Given the description of an element on the screen output the (x, y) to click on. 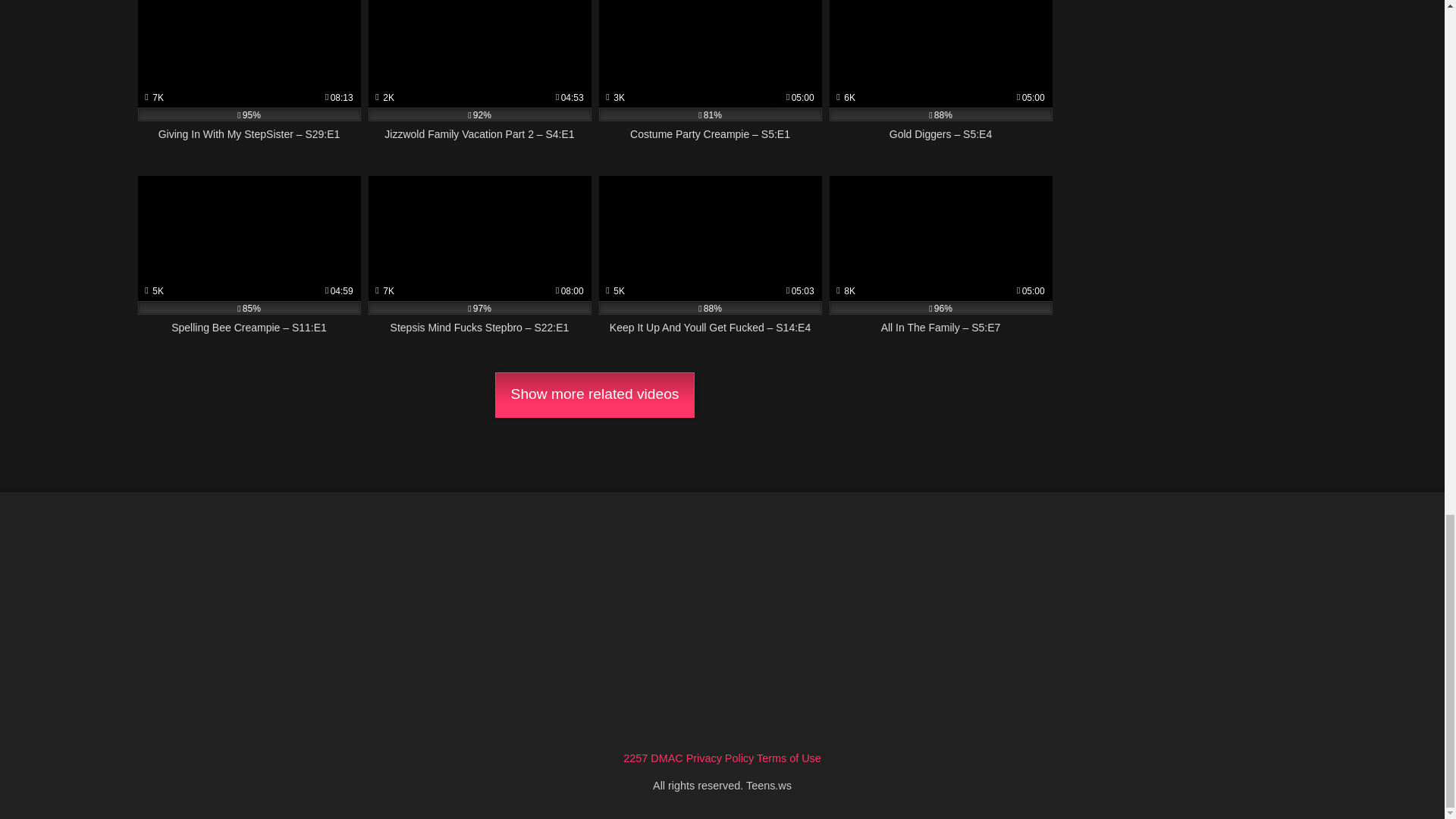
Show more related videos (594, 394)
DMAC (666, 758)
2257 (635, 758)
